Given the description of an element on the screen output the (x, y) to click on. 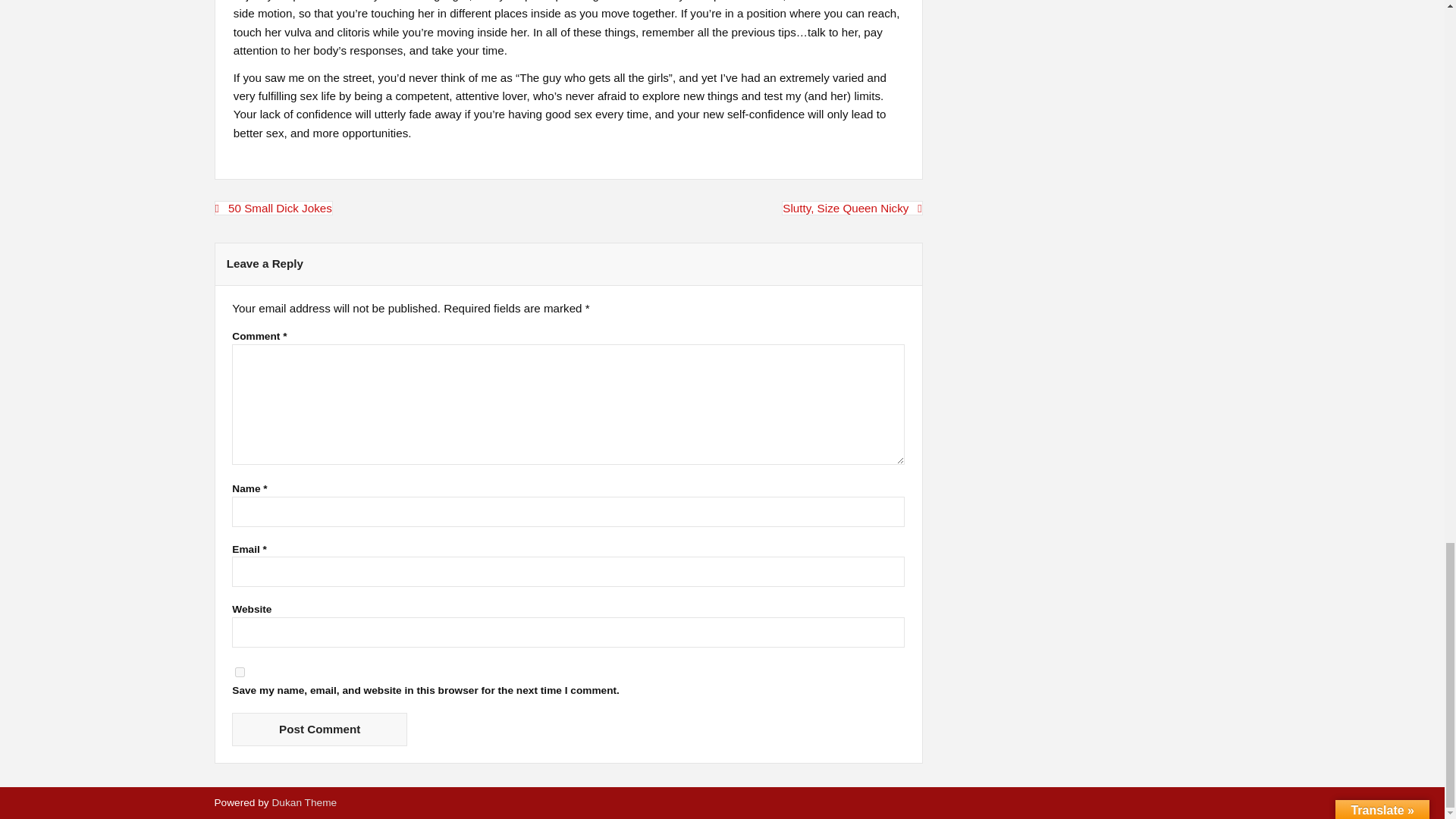
Post Comment (319, 728)
yes (239, 672)
50 Small Dick Jokes (272, 207)
Post Comment (319, 728)
ODude.com (303, 802)
Slutty, Size Queen Nicky (852, 207)
